Given the description of an element on the screen output the (x, y) to click on. 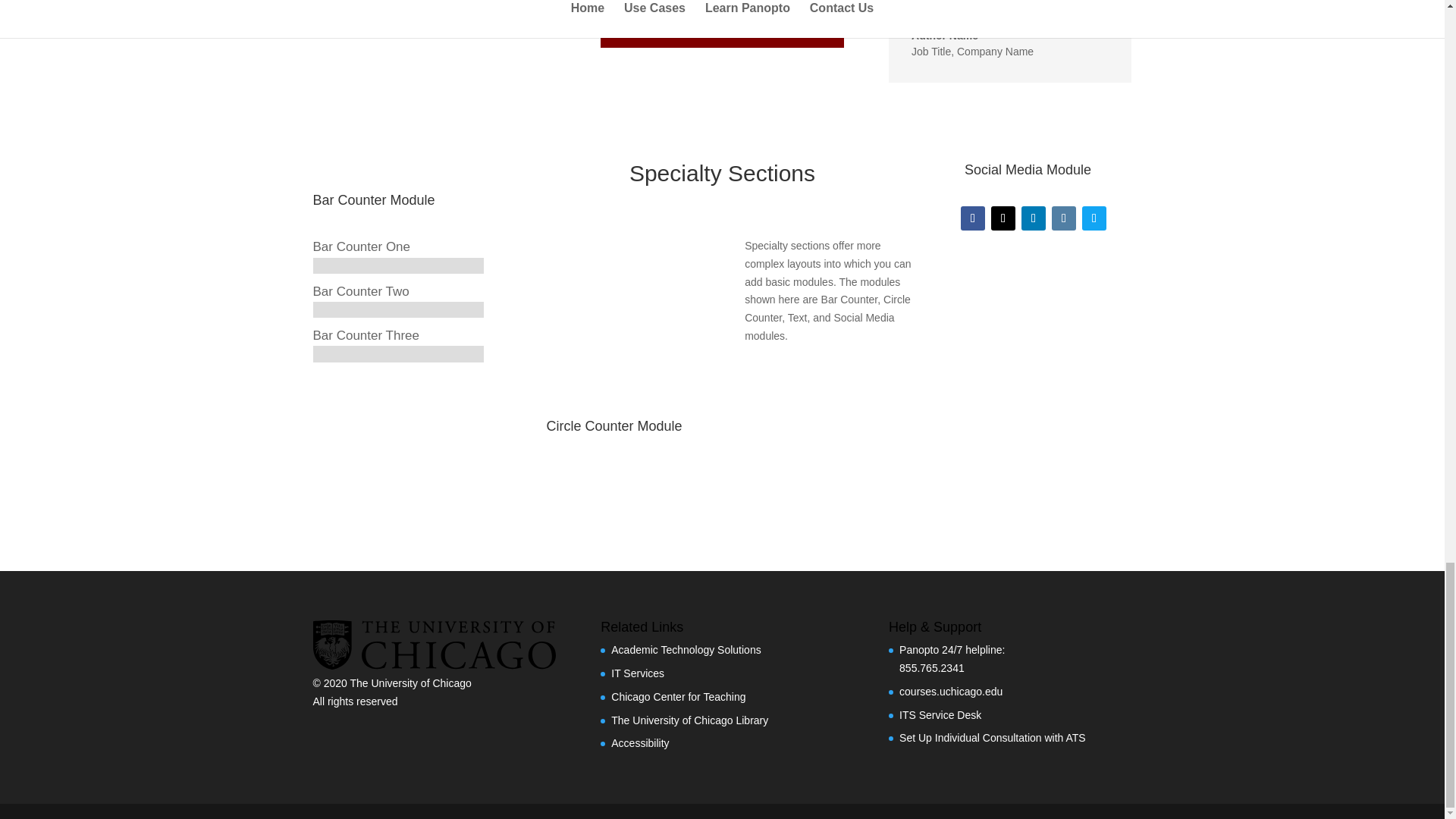
LinkedIn (1033, 218)
Button Text (722, 8)
The University of Chicago Library (689, 720)
Follow on LinkedIn (1033, 218)
Twitter (1002, 218)
Instagram (1063, 218)
Follow on skype (1093, 218)
Follow on X (1002, 218)
courses.uchicago.edu (951, 691)
Facebook (972, 218)
Chicago Center for Teaching (678, 696)
Follow on Facebook (972, 218)
IT Services (637, 673)
Skype (1093, 218)
Follow on Instagram (1063, 218)
